Given the description of an element on the screen output the (x, y) to click on. 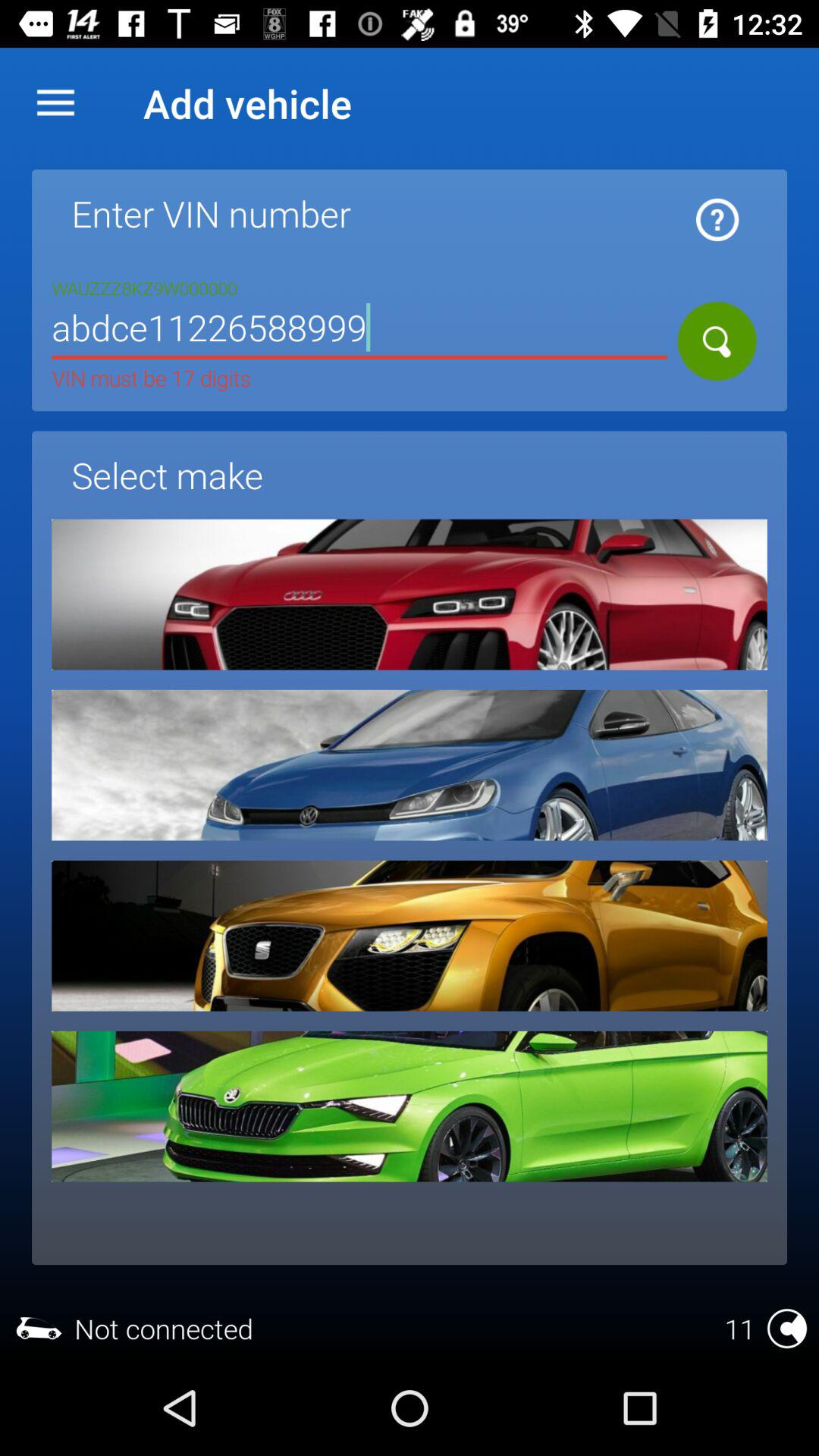
jump until the abdce11226588999 icon (359, 330)
